Given the description of an element on the screen output the (x, y) to click on. 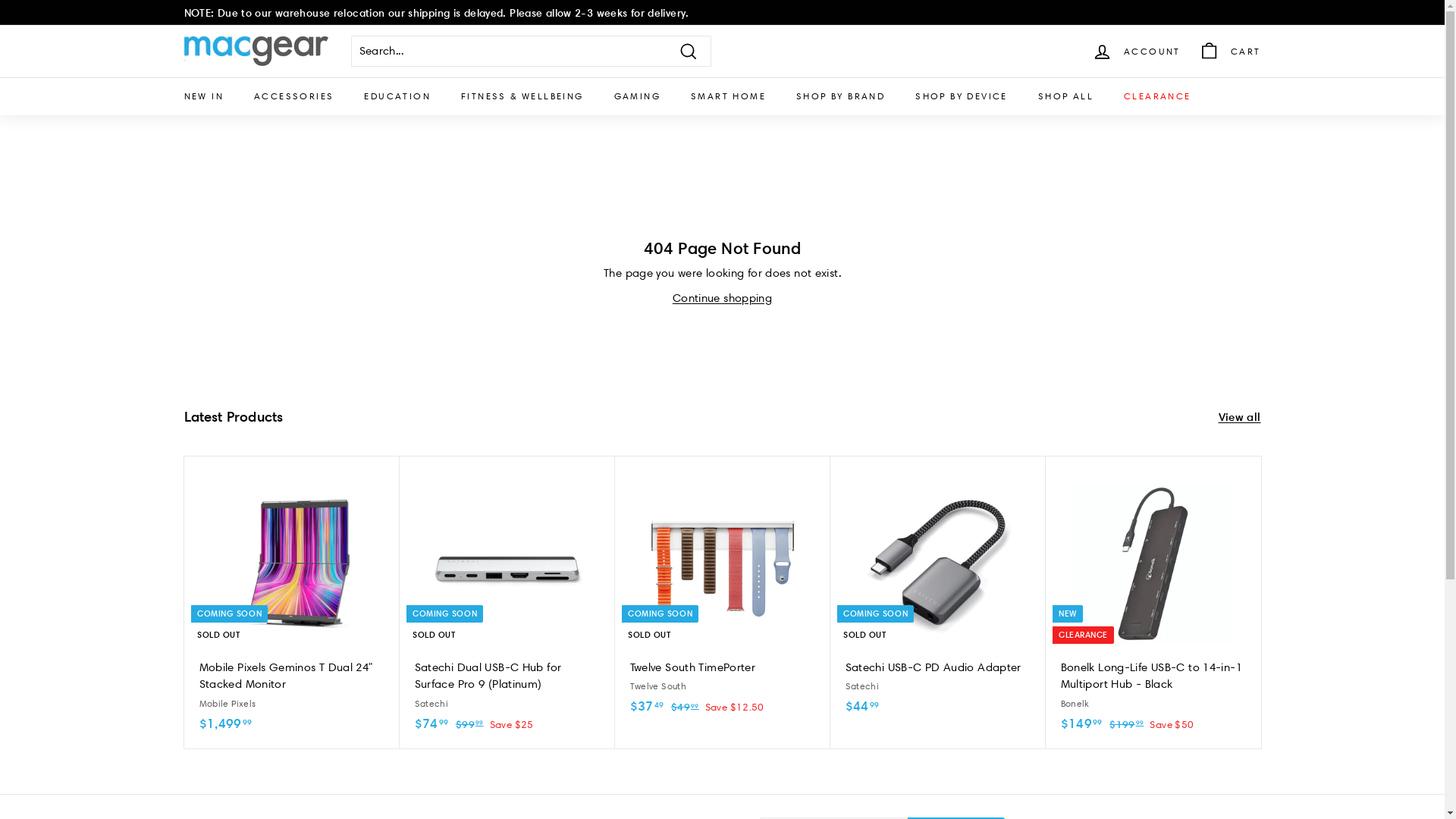
ACCESSORIES Element type: text (293, 96)
Continue shopping Element type: text (721, 297)
EDUCATION Element type: text (396, 96)
SMART HOME Element type: text (728, 96)
SHOP BY DEVICE Element type: text (961, 96)
CLEARANCE Element type: text (1157, 96)
NEW IN Element type: text (203, 96)
View all Element type: text (1238, 417)
FITNESS & WELLBEING Element type: text (522, 96)
SHOP BY BRAND Element type: text (840, 96)
SHOP ALL Element type: text (1065, 96)
GAMING Element type: text (637, 96)
ACCOUNT Element type: text (1135, 50)
